Given the description of an element on the screen output the (x, y) to click on. 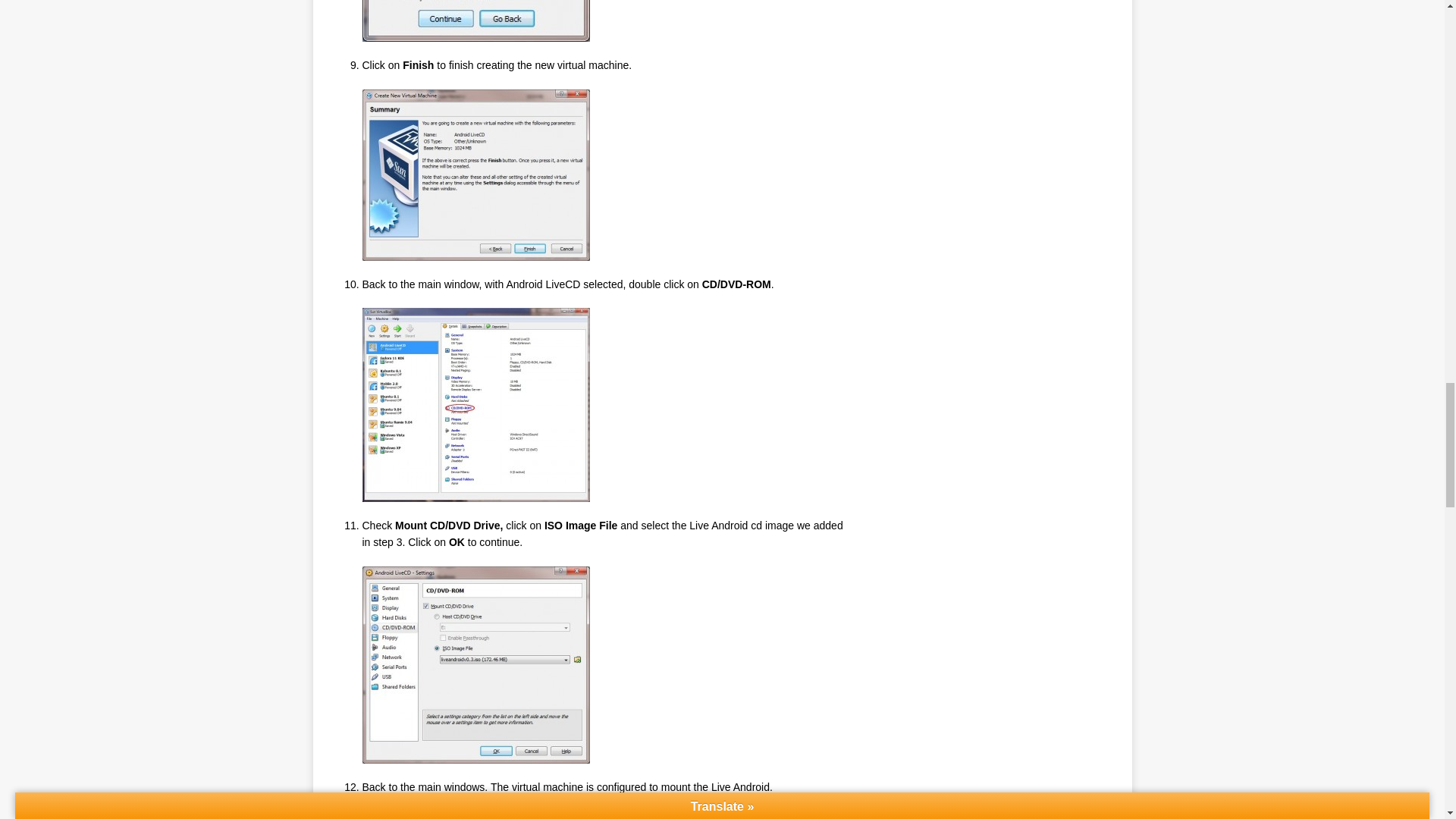
android09 (475, 814)
android07 (475, 404)
android05 (475, 20)
android08 (475, 664)
android06 (475, 175)
